Given the description of an element on the screen output the (x, y) to click on. 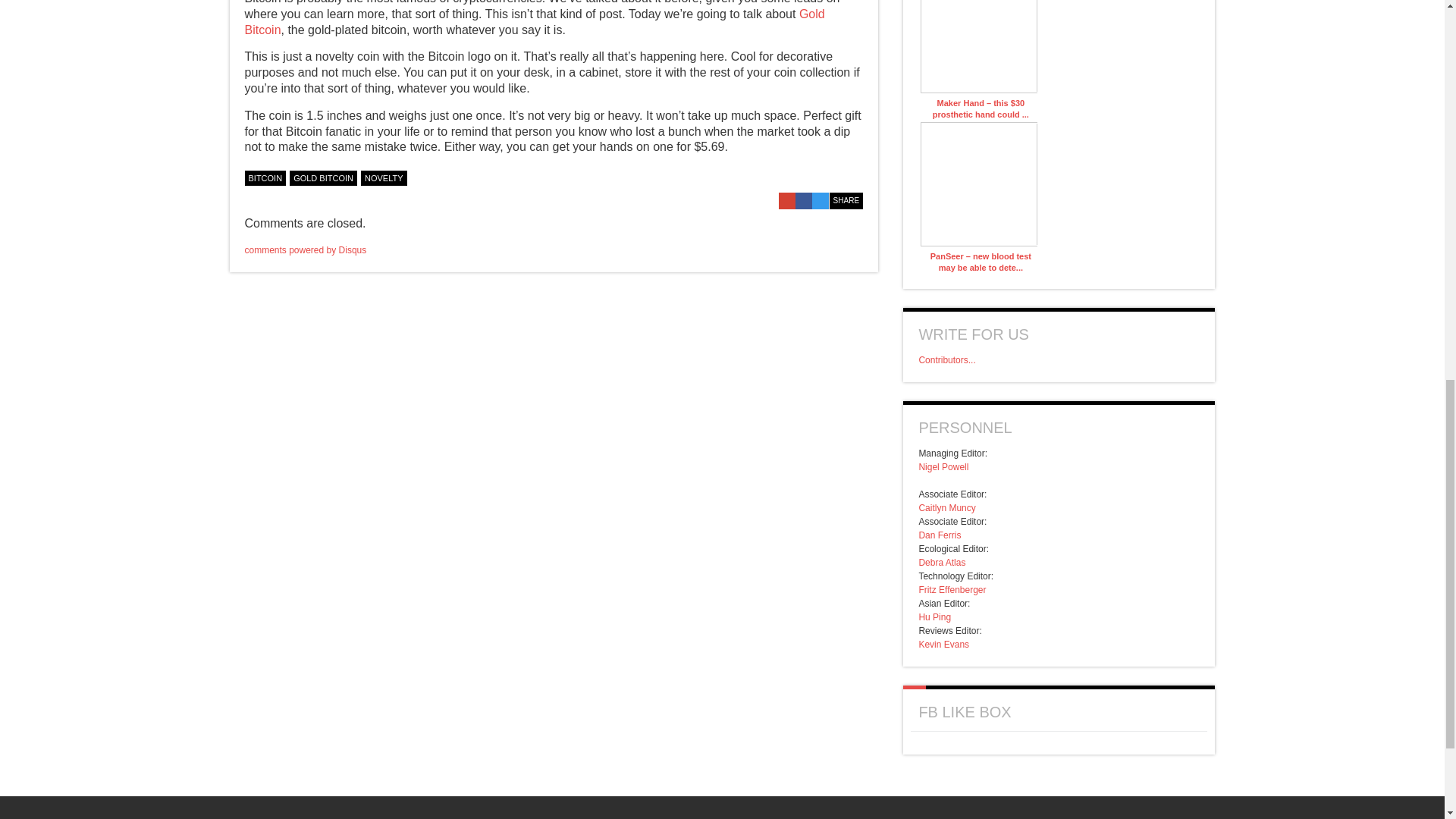
BITCOIN (264, 177)
Hu Ping (934, 616)
Caitlyn Muncy (946, 507)
NOVELTY (384, 177)
Dan Ferris (939, 534)
SHARE (846, 200)
Gold Bitcoin (534, 21)
Debra Atlas (941, 562)
comments powered by Disqus (305, 249)
GOLD BITCOIN (322, 177)
